Given the description of an element on the screen output the (x, y) to click on. 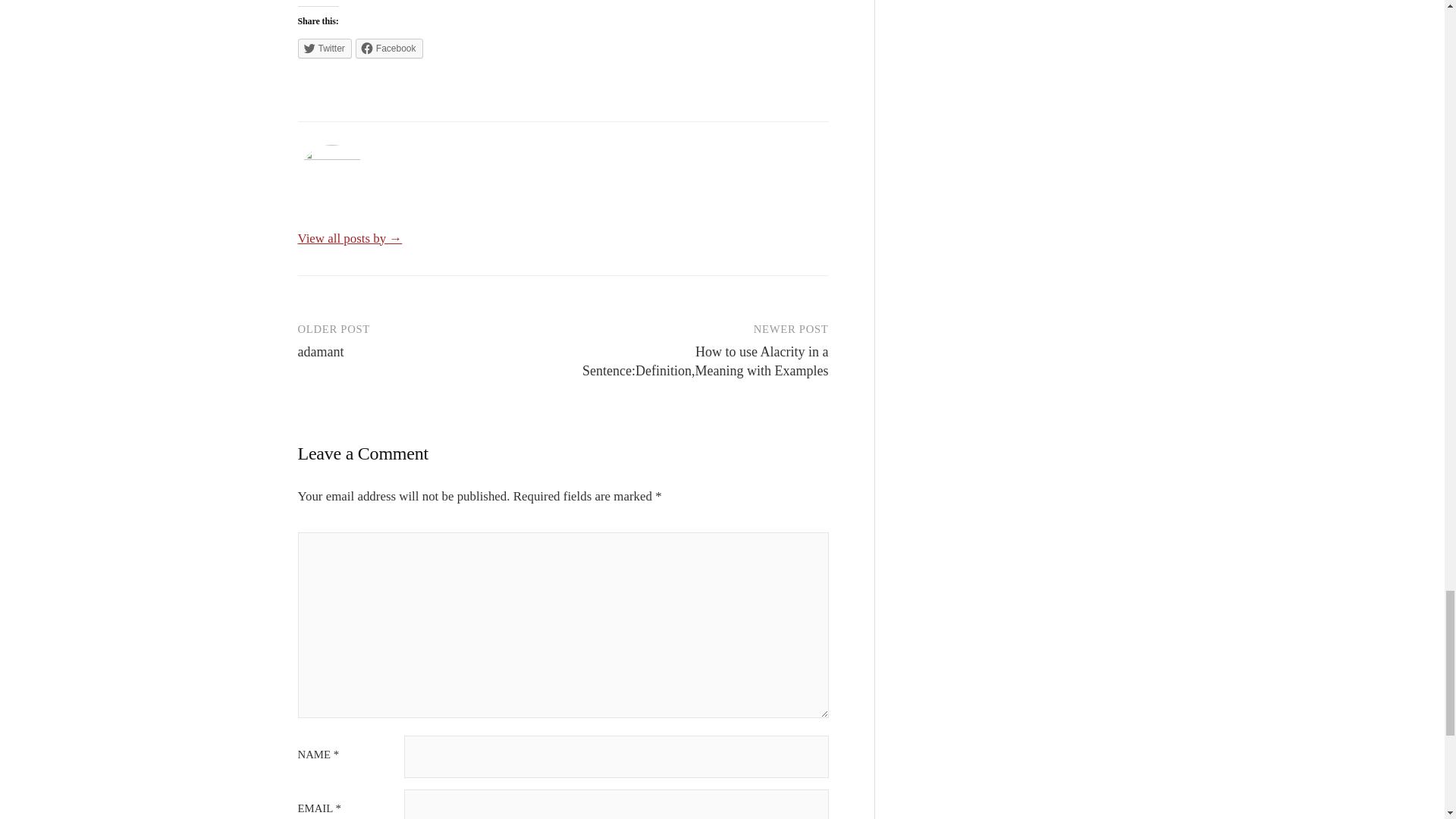
Click to share on Twitter (323, 48)
Click to share on Facebook (389, 48)
Twitter (323, 48)
adamant (320, 351)
Facebook (389, 48)
